Given the description of an element on the screen output the (x, y) to click on. 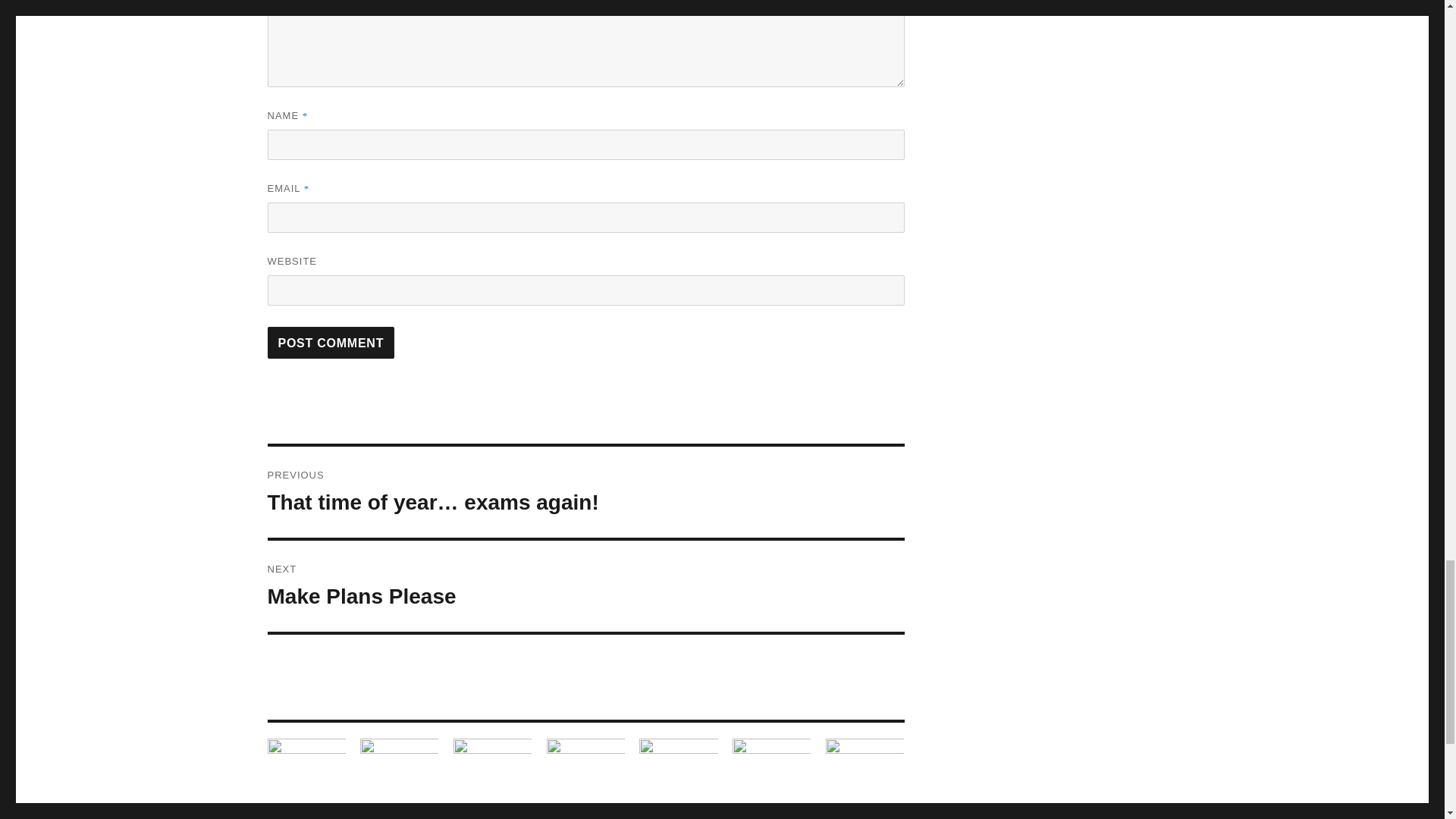
Post Comment (330, 342)
Post Comment (330, 342)
